Given the description of an element on the screen output the (x, y) to click on. 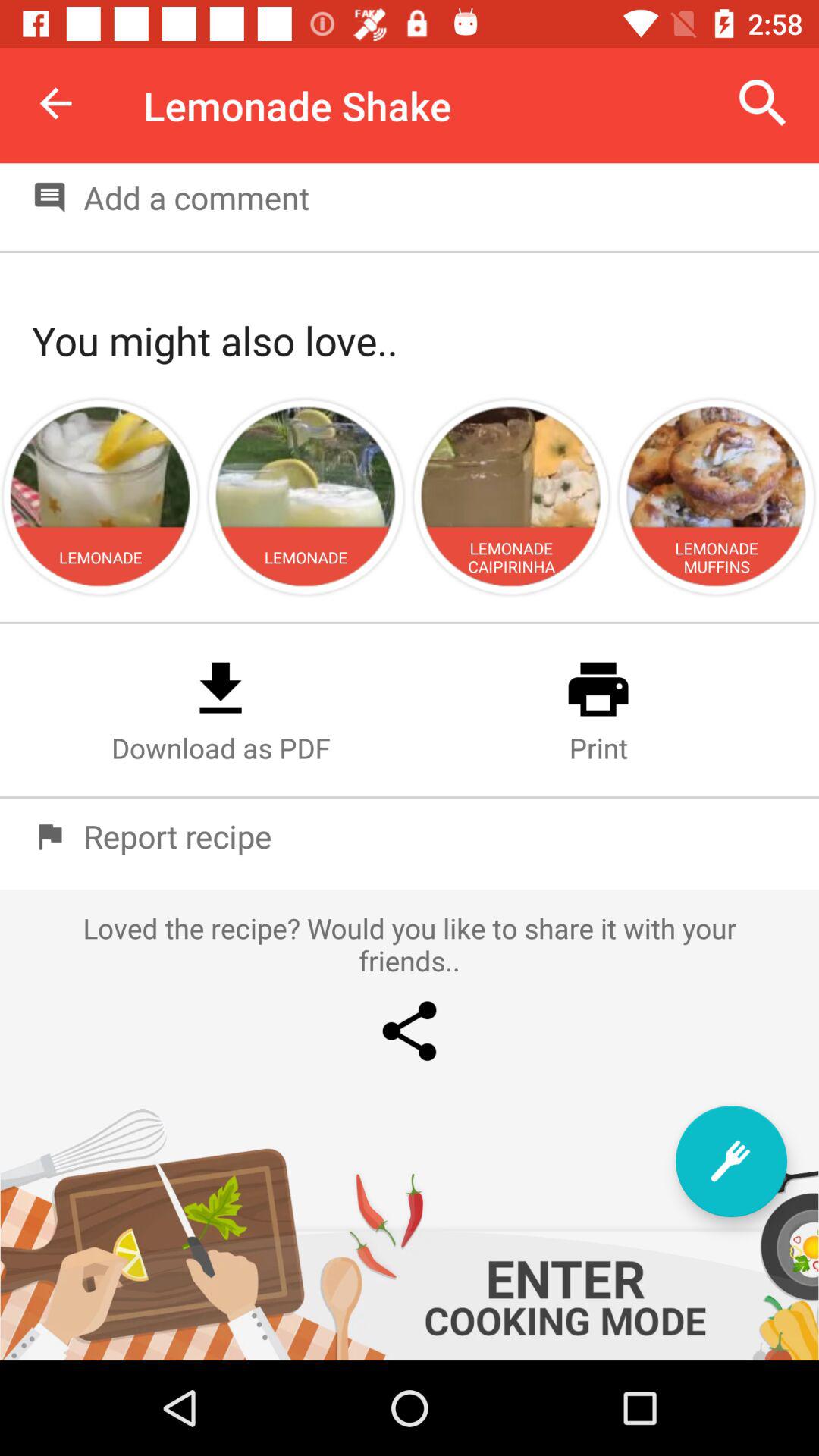
select the item next to the lemonade shake (763, 103)
